Given the description of an element on the screen output the (x, y) to click on. 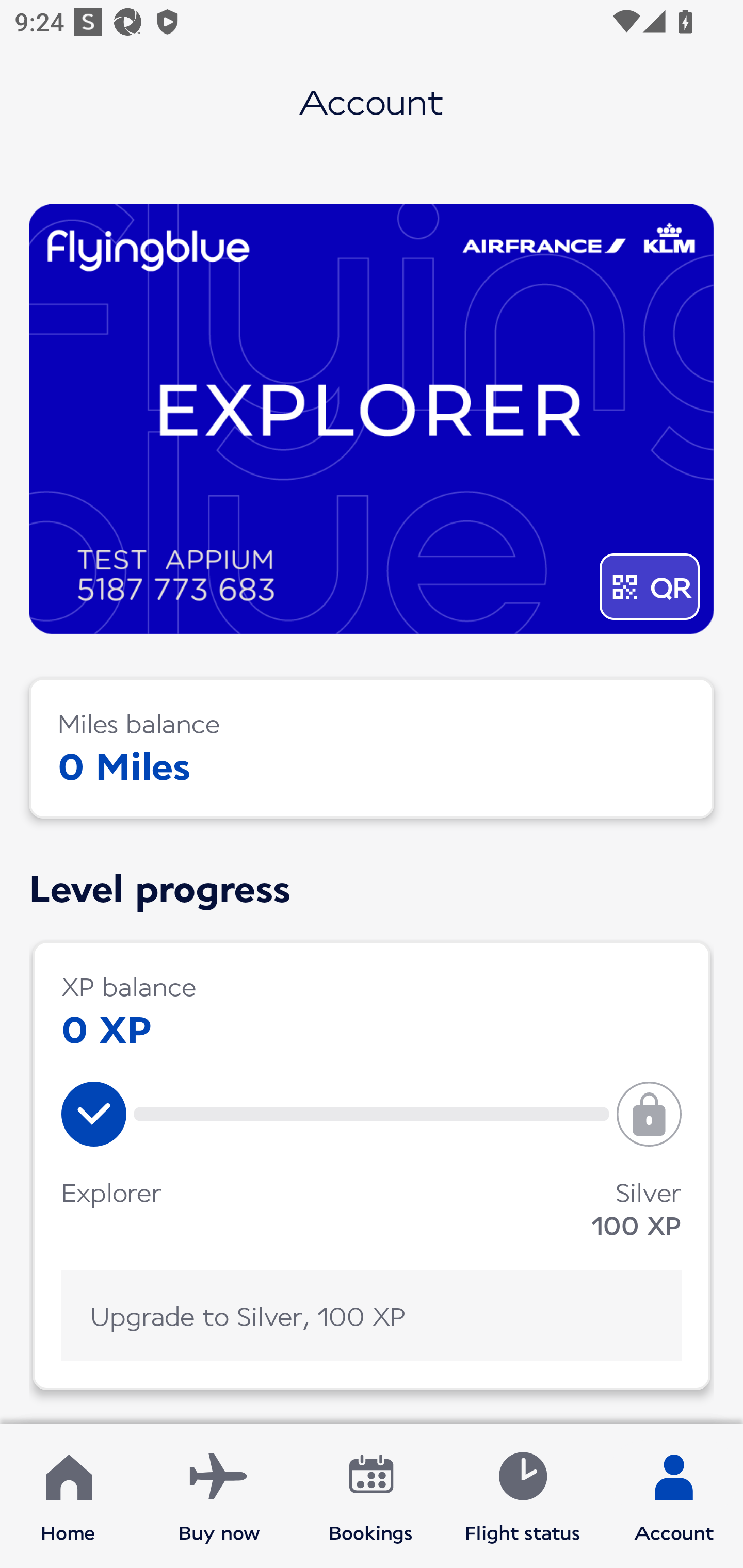
Miles balance 0 Miles (371, 747)
Home (68, 1495)
Buy now (219, 1495)
Bookings (370, 1495)
Flight status (522, 1495)
